Given the description of an element on the screen output the (x, y) to click on. 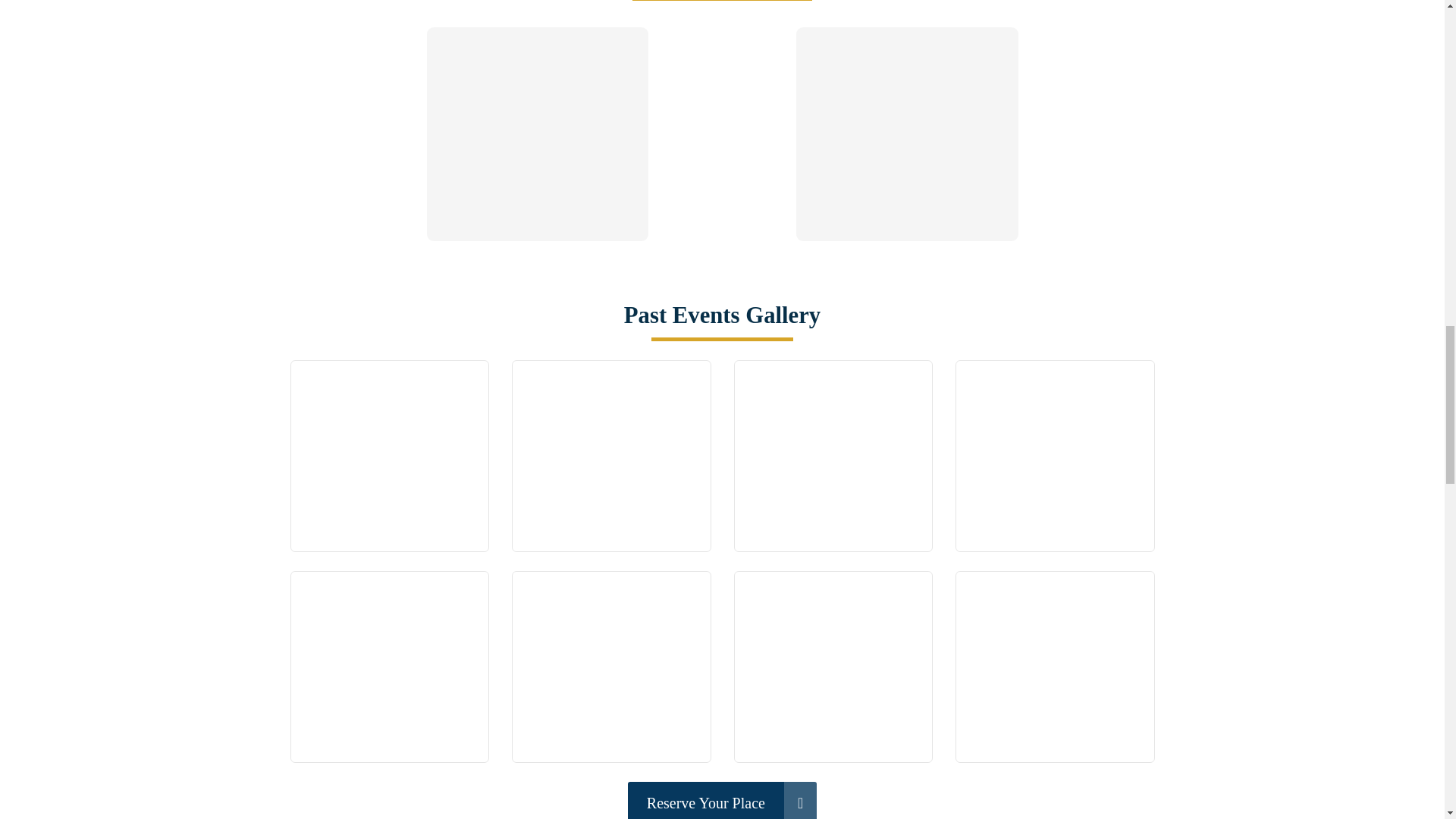
Reserve Your Place (721, 800)
